Given the description of an element on the screen output the (x, y) to click on. 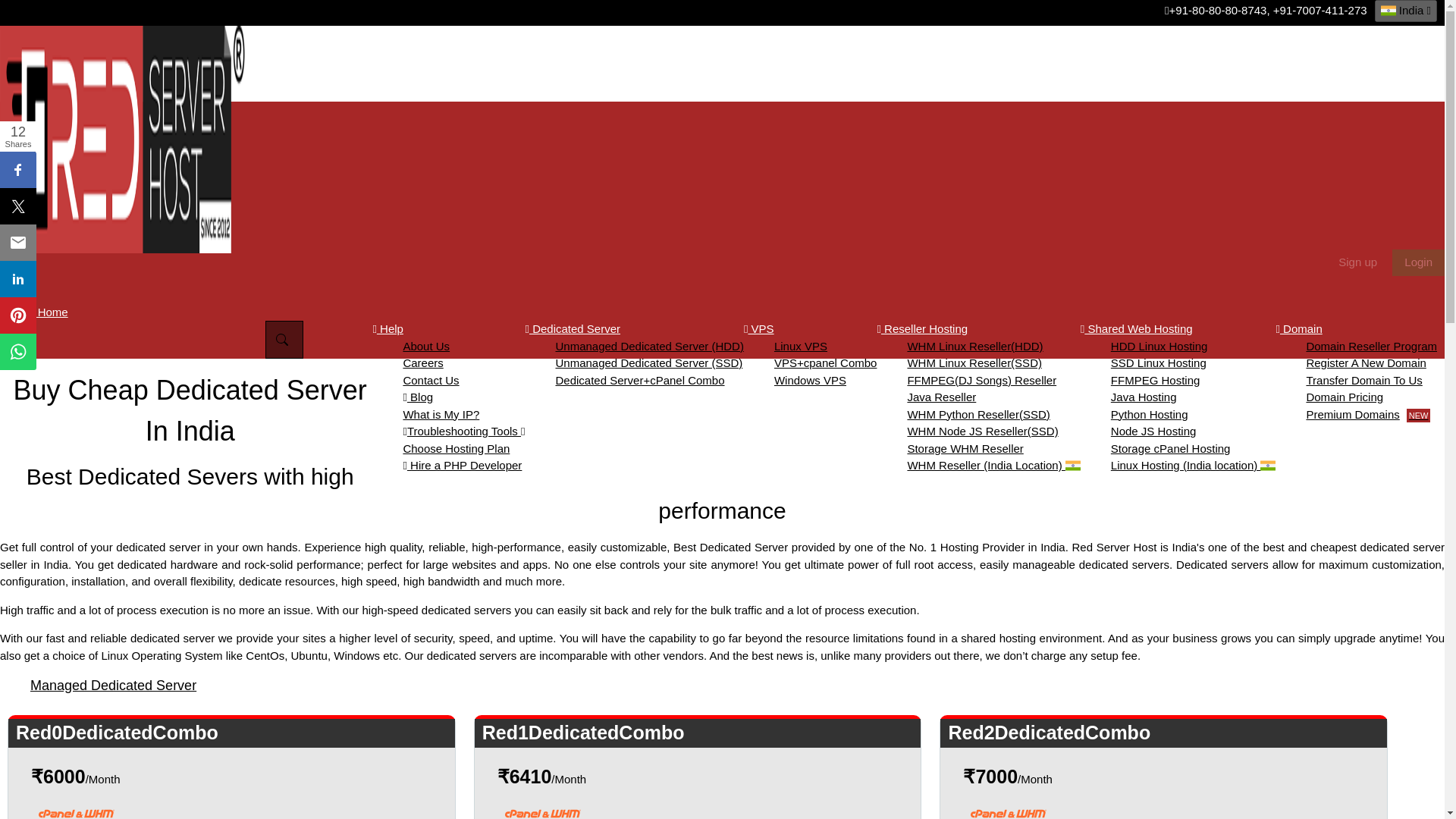
Transfer Domain To Us (1364, 379)
HDD Linux Hosting (1159, 345)
Python Hosting (1149, 413)
Domain (1298, 328)
India (1405, 11)
Windows VPS (809, 379)
Premium DomainsNEW (1367, 413)
FFMPEG Hosting (1154, 379)
Register A New Domain (1365, 362)
SSD Linux Hosting (1158, 362)
Reseller Hosting (922, 328)
Sign up (1357, 260)
Dedicated Server (572, 328)
Home (49, 310)
Java Hosting (1143, 396)
